Given the description of an element on the screen output the (x, y) to click on. 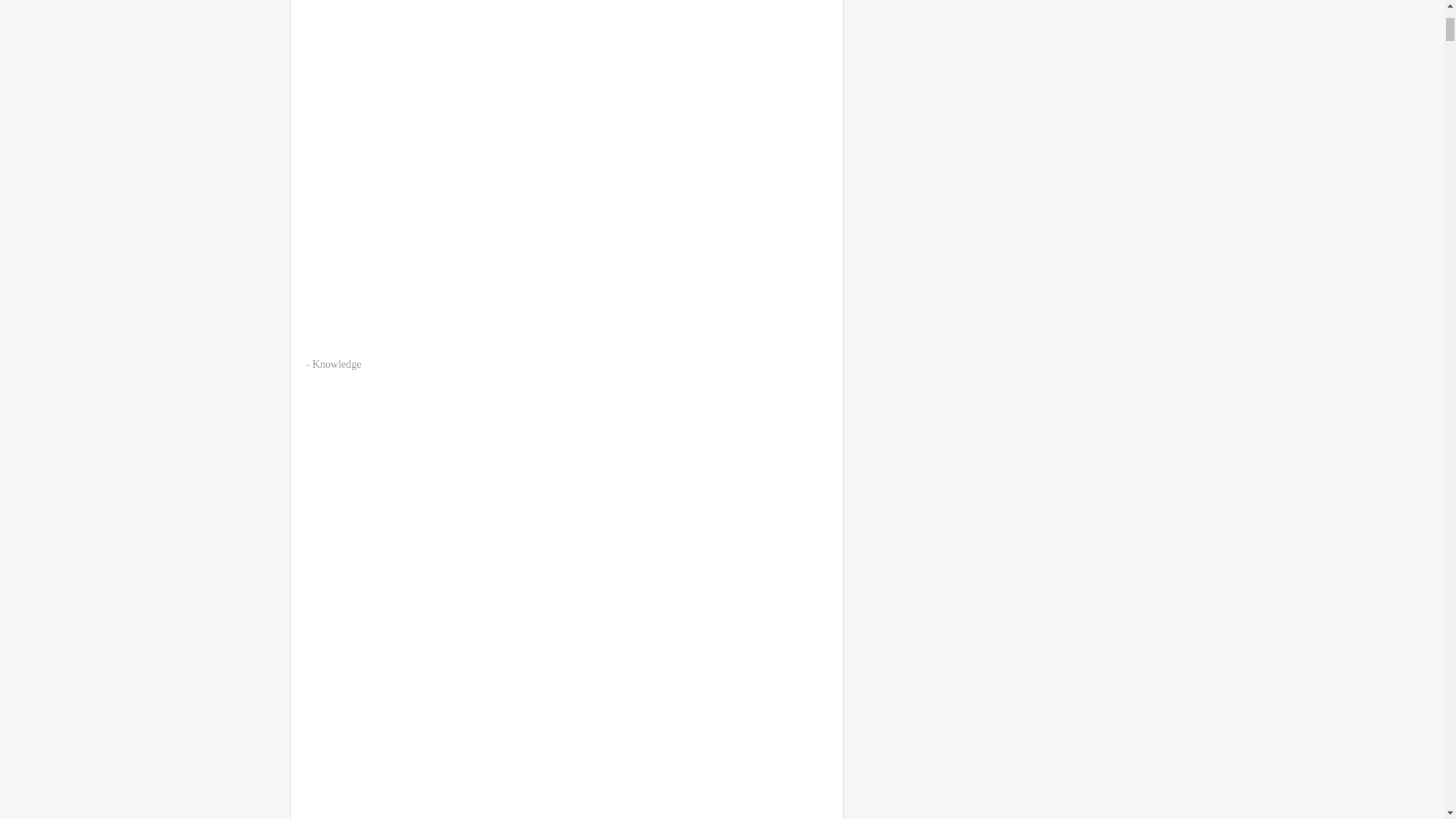
Knowledge (337, 364)
